Given the description of an element on the screen output the (x, y) to click on. 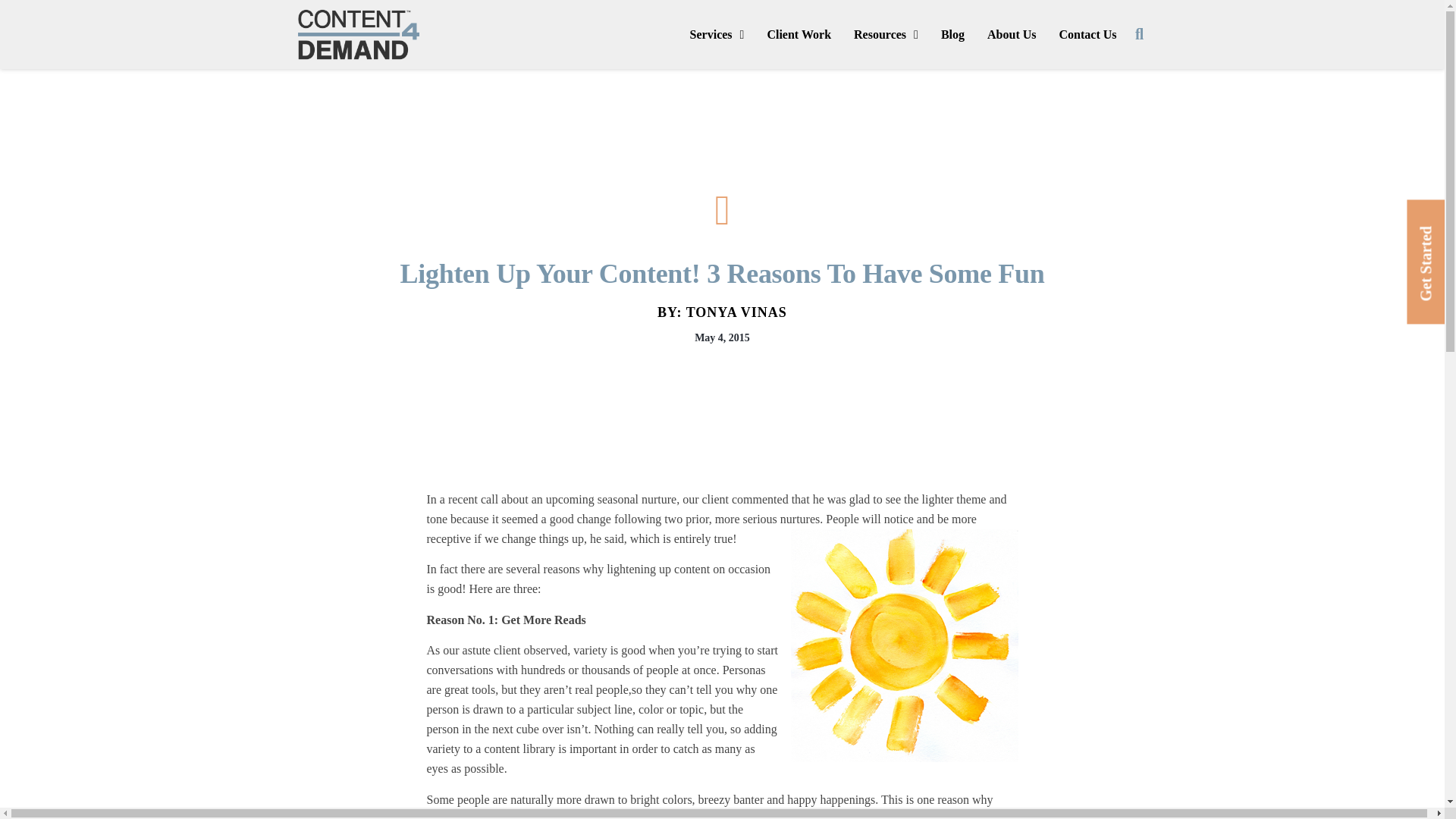
Resources (885, 34)
Blog (951, 34)
Client Work (799, 34)
Contact Us (1087, 34)
About Us (1011, 34)
Services (717, 34)
